Given the description of an element on the screen output the (x, y) to click on. 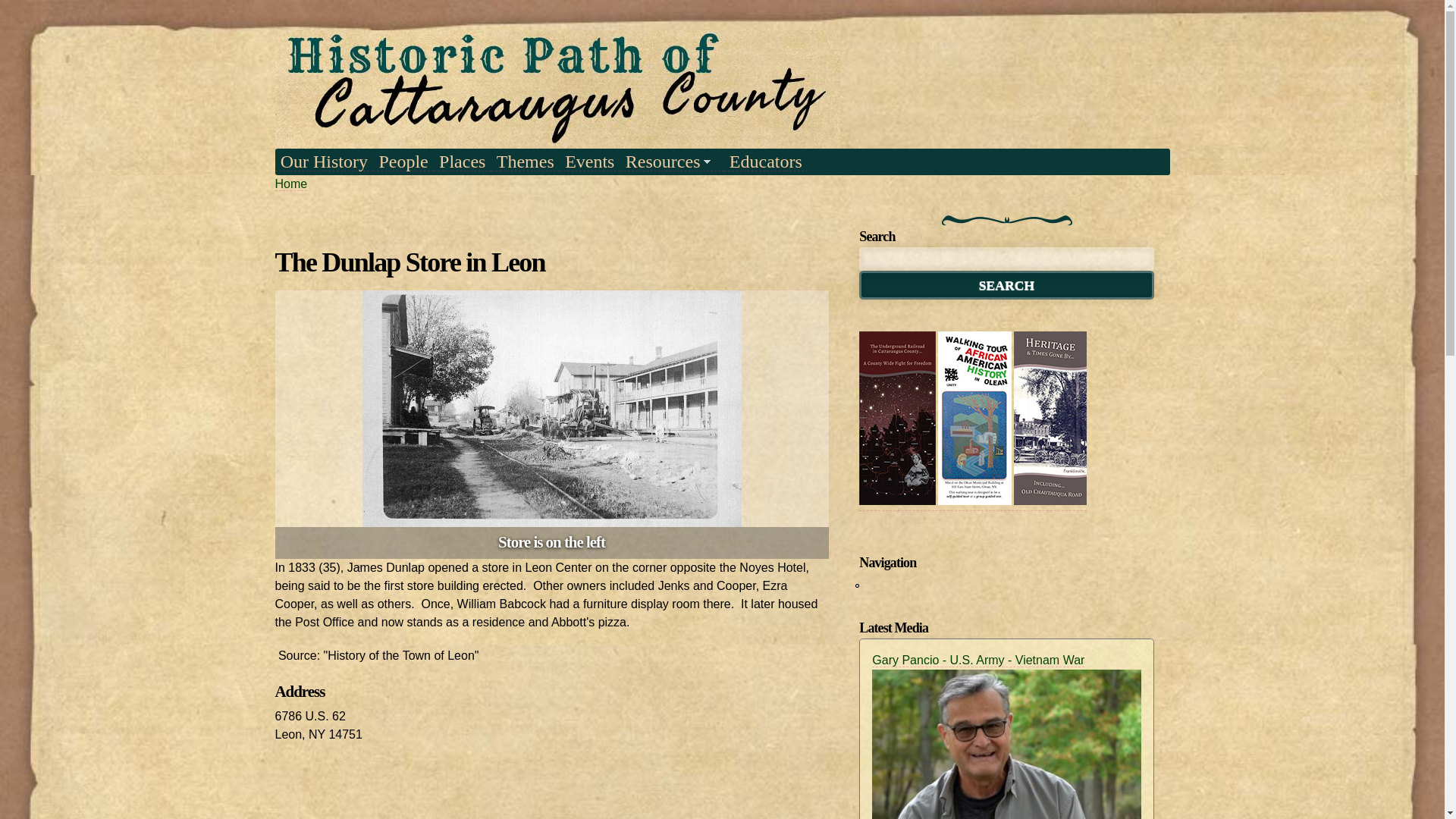
Store is on the left (551, 517)
Gary Pancio - U.S. Army - Vietnam War (978, 660)
Search (1006, 285)
Themes (525, 161)
Skip to main content (685, 2)
Search (1006, 285)
People (402, 161)
Events (589, 161)
Enter the terms you wish to search for. (1006, 259)
Our History (323, 161)
Educators (765, 161)
Store is on the left (551, 408)
Historical Resources in Cattaraugus County (671, 161)
Famous and Infamous People of Cattaraugus County (402, 161)
Content for Educators (765, 161)
